Given the description of an element on the screen output the (x, y) to click on. 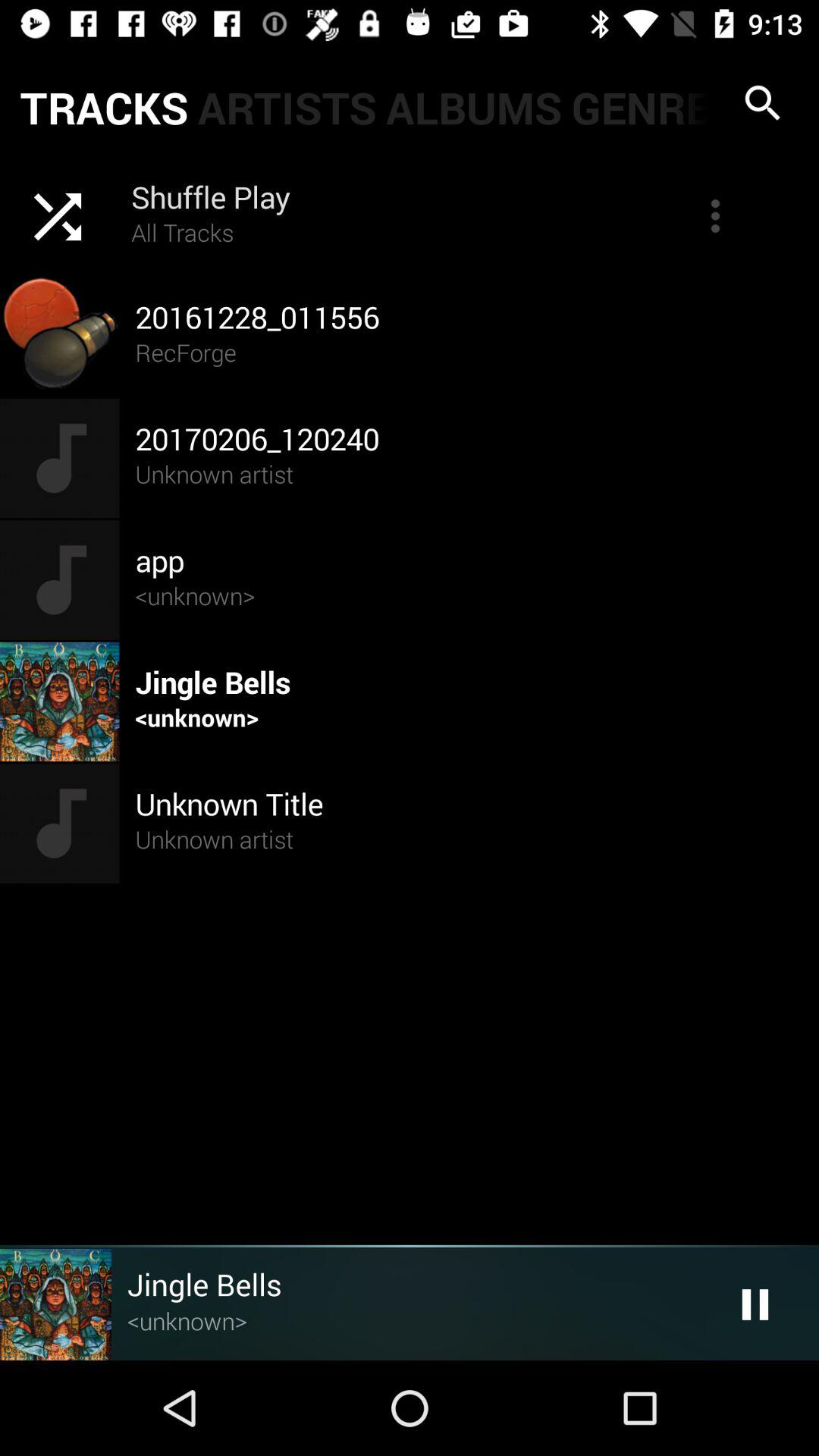
go to search (763, 103)
